Given the description of an element on the screen output the (x, y) to click on. 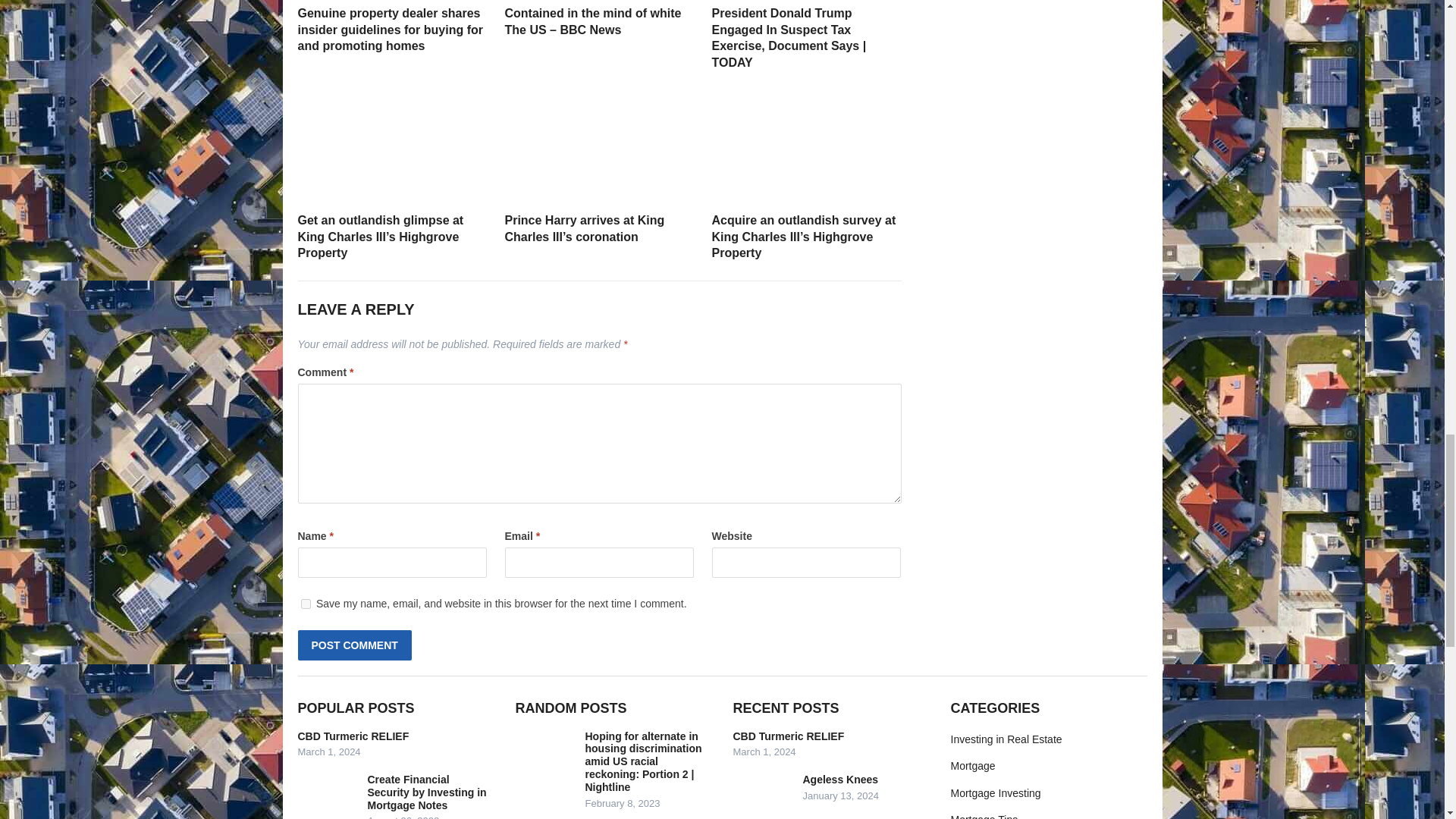
yes (304, 603)
Post Comment (353, 644)
